Given the description of an element on the screen output the (x, y) to click on. 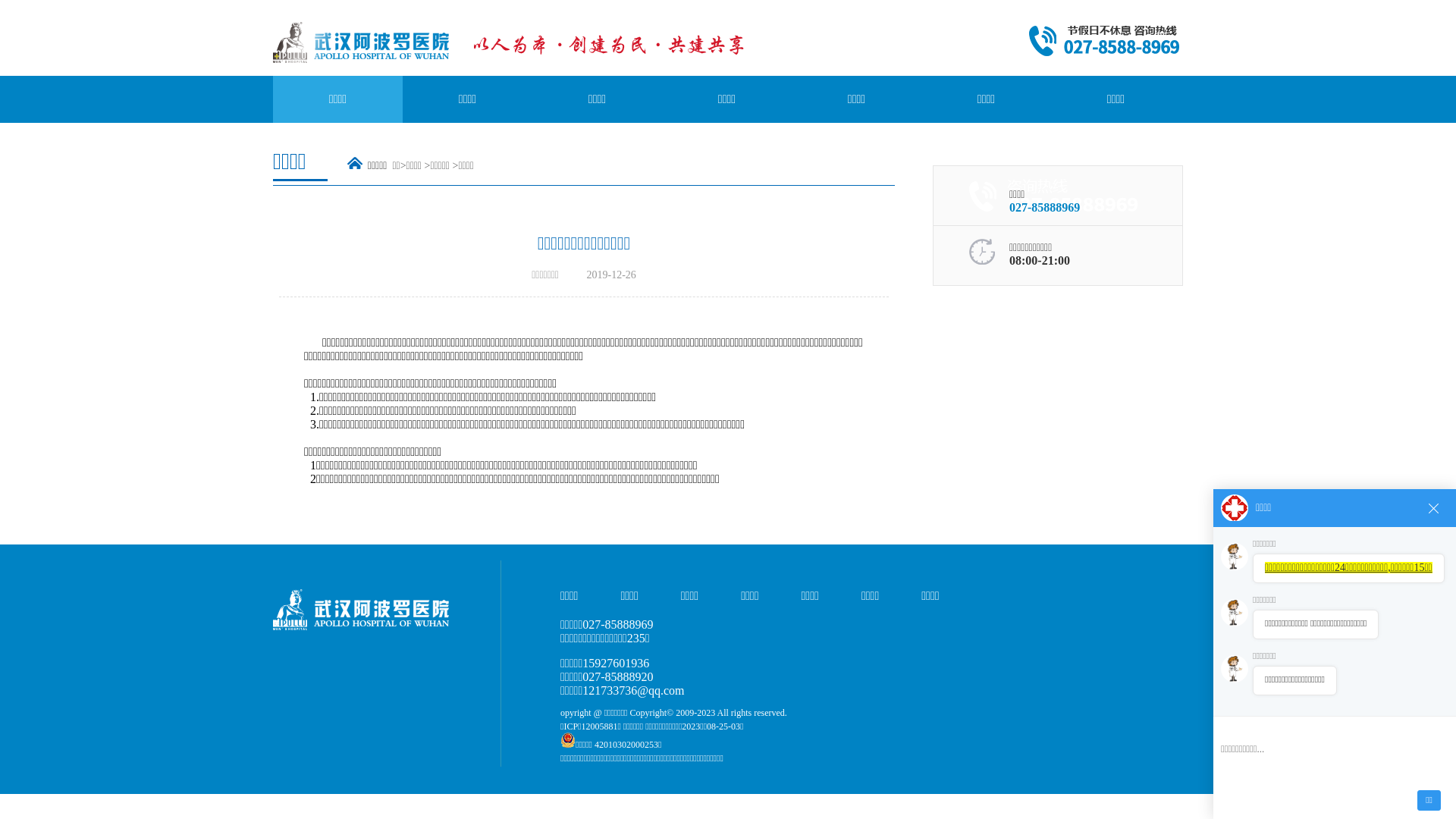
15927601936 Element type: text (615, 662)
027-85888969 Element type: text (1044, 206)
027-85888920 Element type: text (617, 676)
08:00-21:00 Element type: text (1039, 260)
121733736@qq.com Element type: text (633, 690)
